Given the description of an element on the screen output the (x, y) to click on. 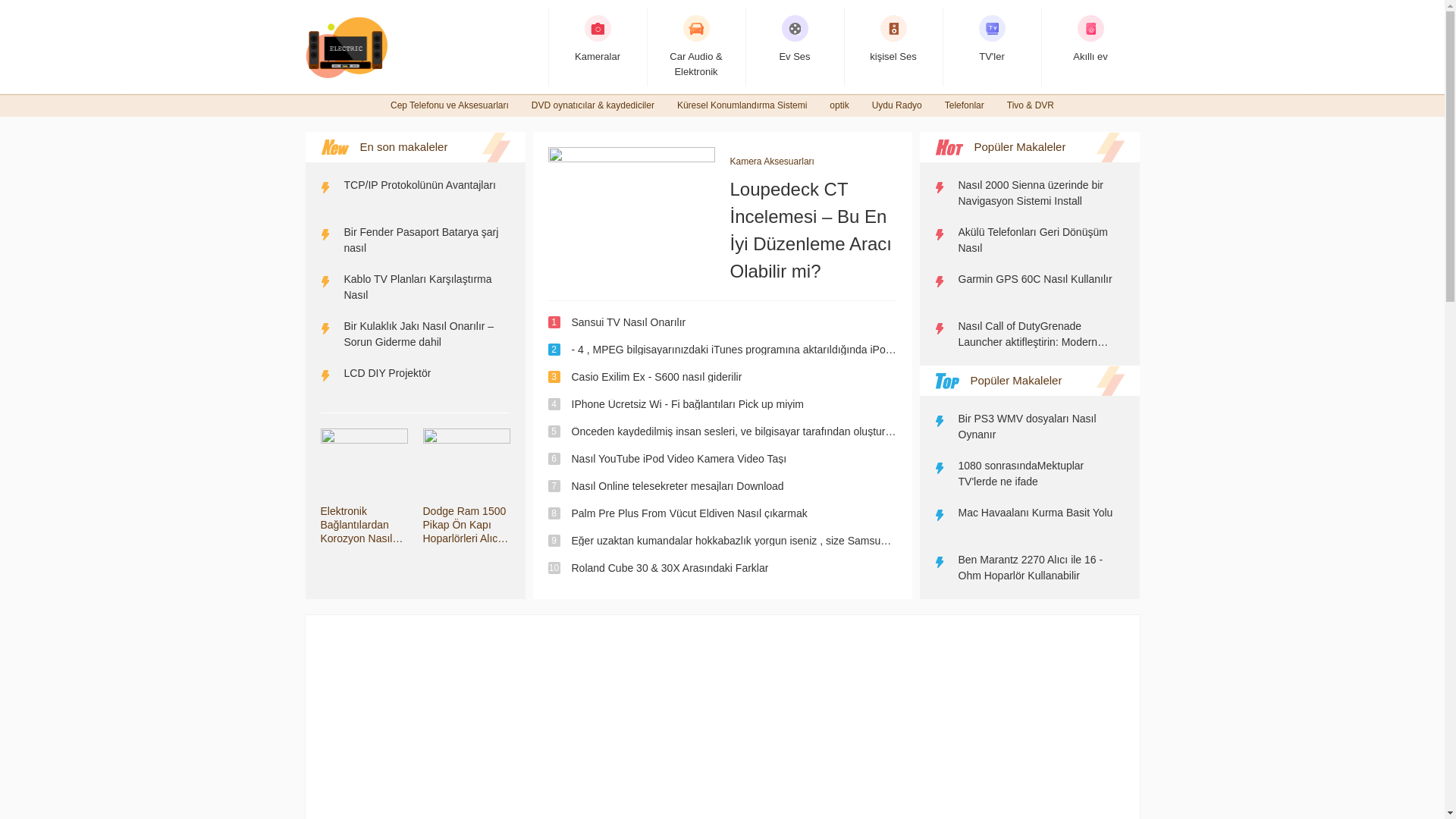
Tivo & DVR Element type: text (1030, 105)
Car Audio & Elektronik Element type: text (696, 46)
Telefonlar Element type: text (964, 105)
optik Element type: text (838, 105)
TV'ler Element type: text (992, 39)
Ev Ses Element type: text (795, 39)
Kameralar Element type: text (597, 39)
Uydu Radyo Element type: text (896, 105)
